Given the description of an element on the screen output the (x, y) to click on. 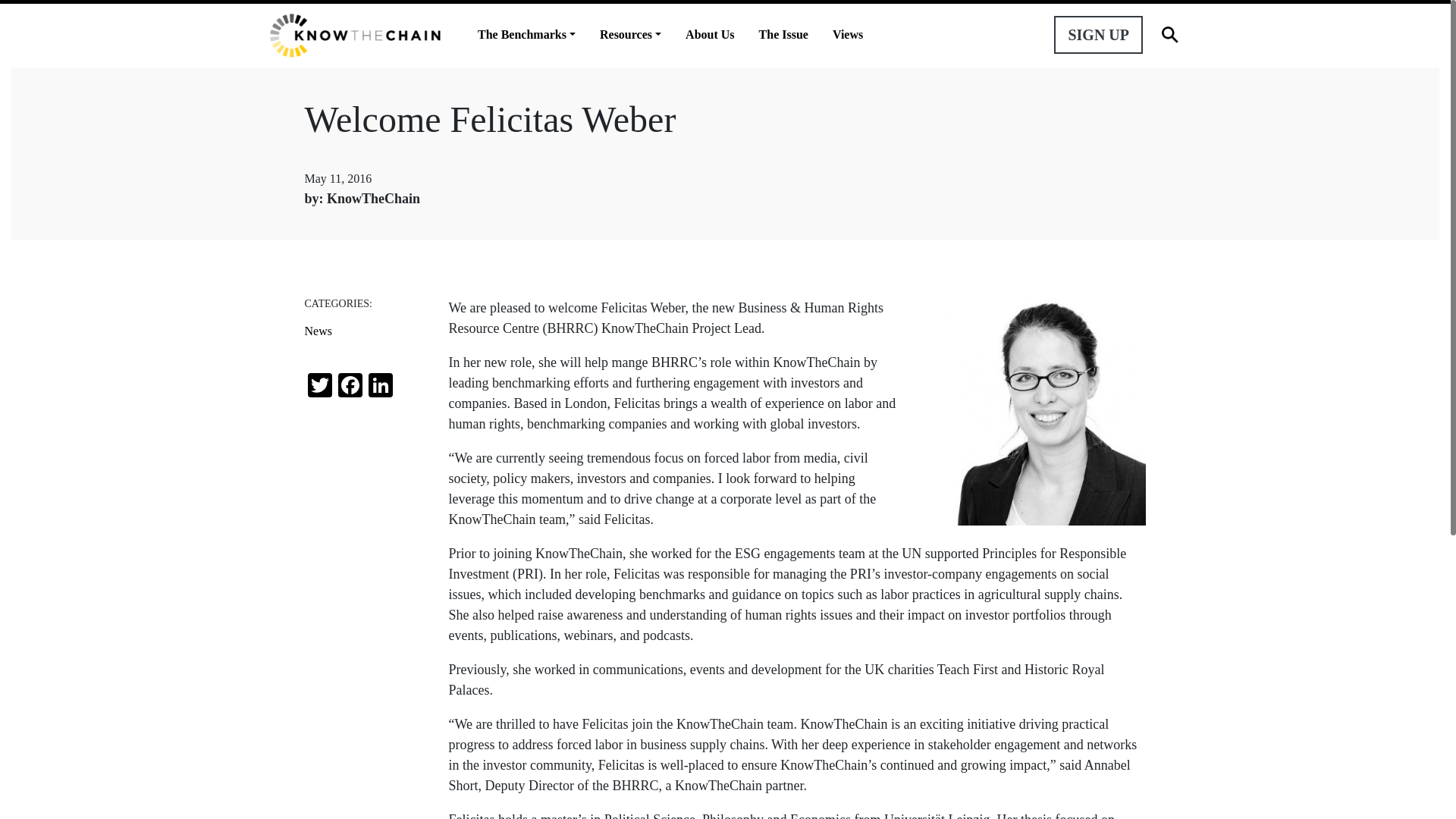
Views (848, 34)
About Us (708, 34)
LinkedIn (380, 387)
The Benchmarks (526, 34)
Resources (630, 34)
Twitter (319, 387)
The Issue (783, 34)
News (365, 331)
Facebook (349, 387)
Facebook (349, 387)
